Given the description of an element on the screen output the (x, y) to click on. 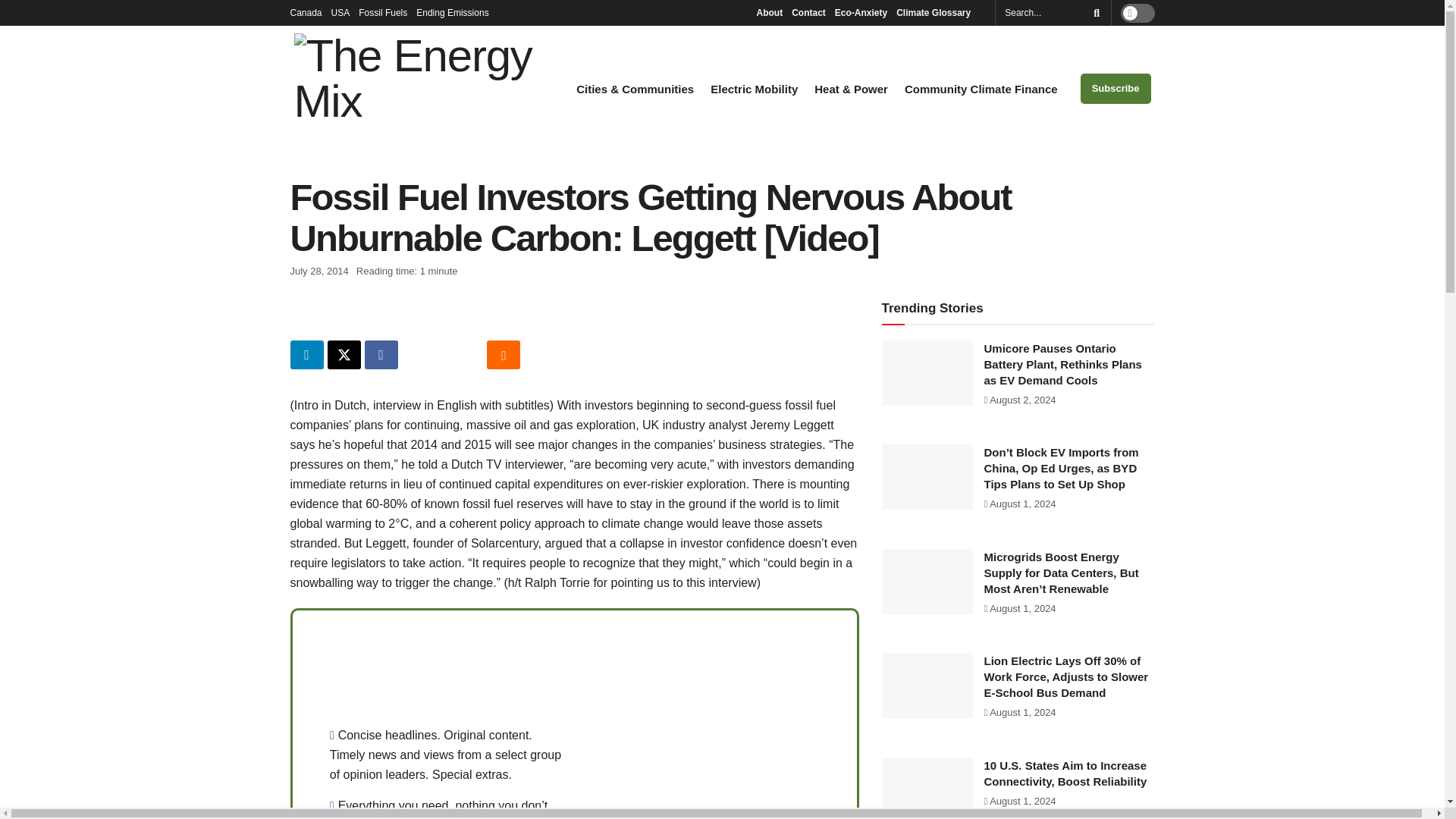
Fossil Fuels (382, 12)
TEM-WeekenderDark (714, 726)
Subscribe (1115, 88)
Climate Glossary (937, 12)
Ending Emissions (456, 12)
Community Climate Finance (981, 89)
About (769, 12)
Contact (808, 12)
Electric Mobility (753, 89)
Canada (305, 12)
